Given the description of an element on the screen output the (x, y) to click on. 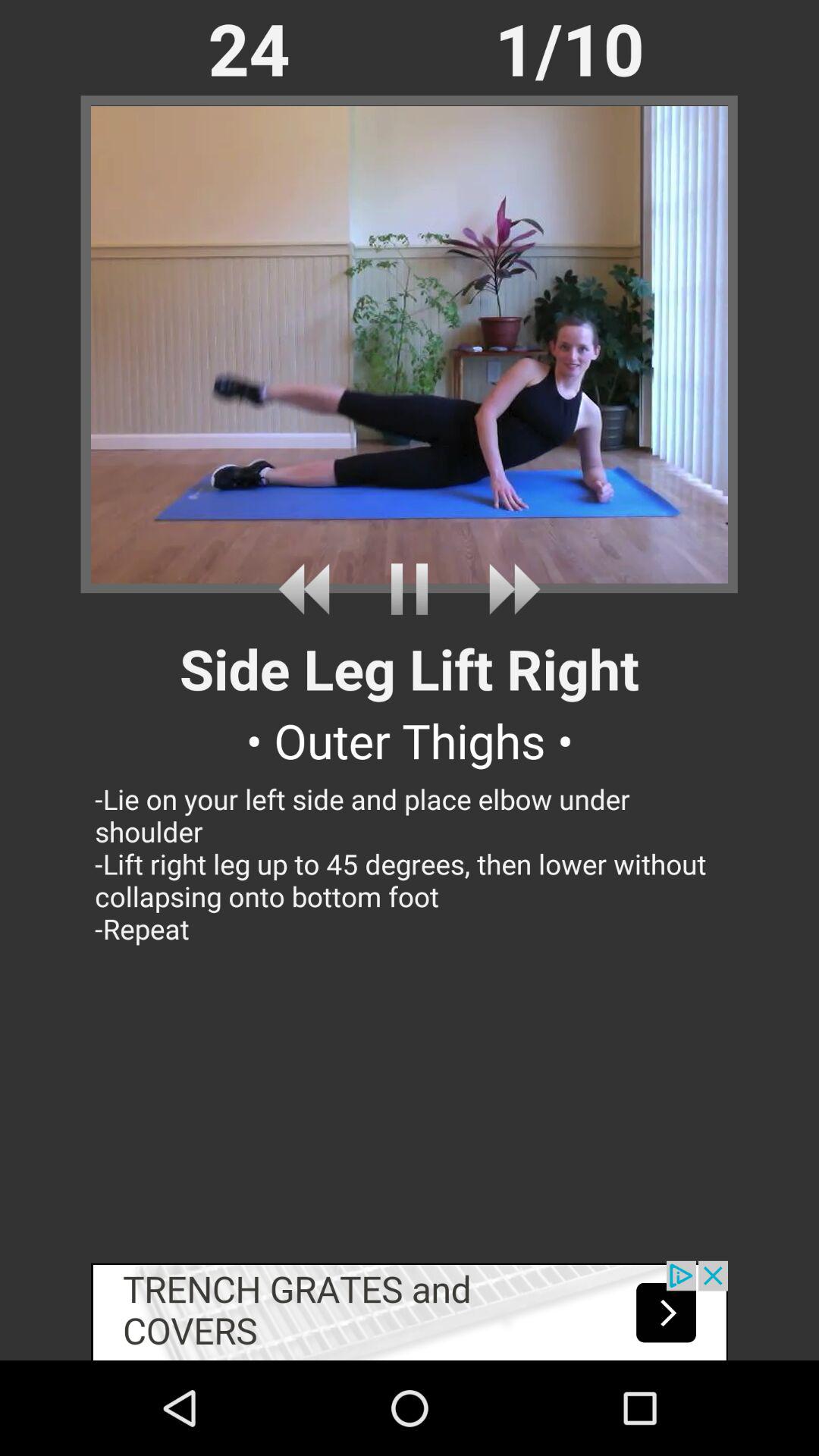
go to previous option (309, 589)
